Given the description of an element on the screen output the (x, y) to click on. 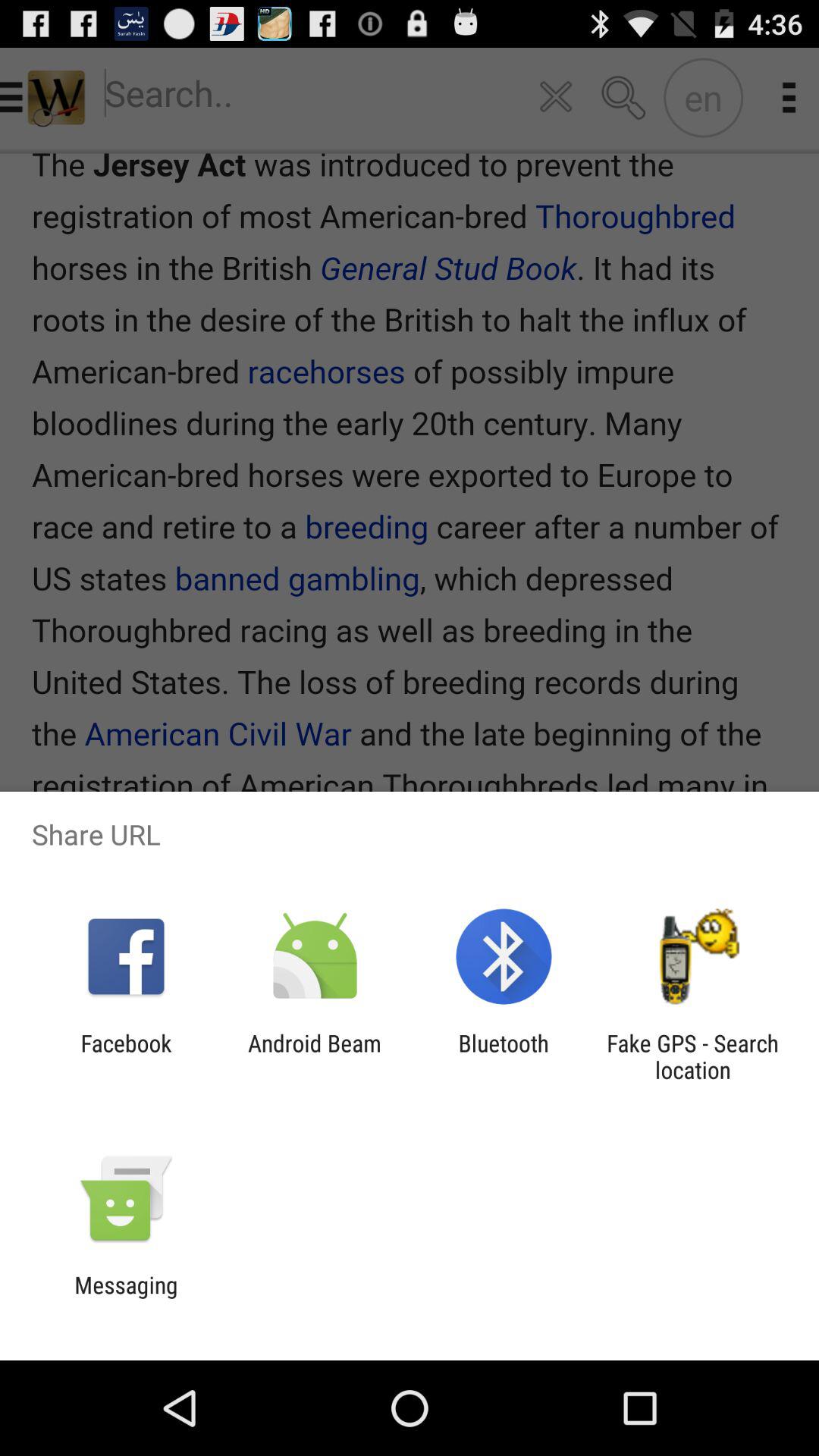
tap item at the bottom right corner (692, 1056)
